Given the description of an element on the screen output the (x, y) to click on. 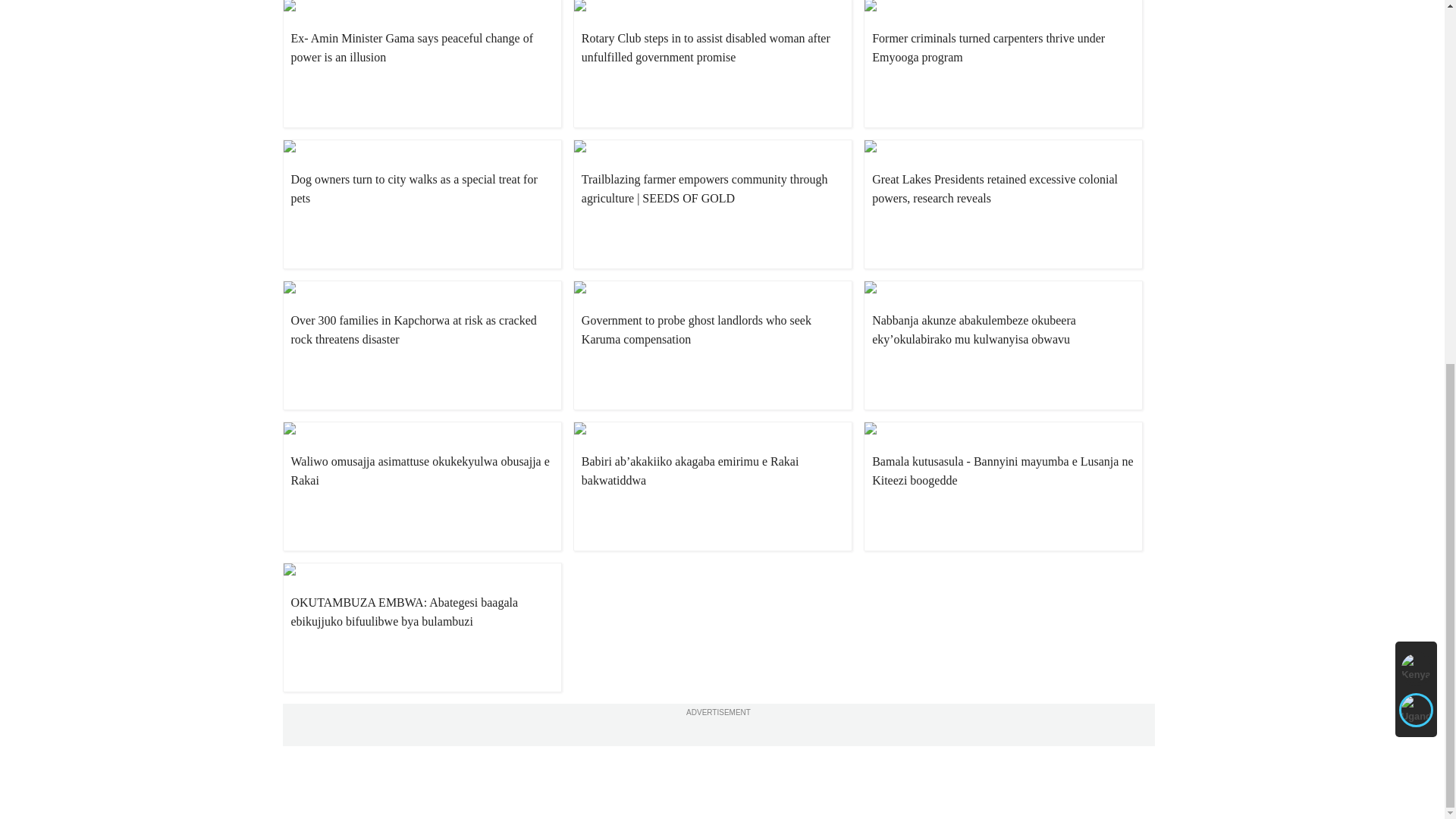
Dog owners turn to city walks as a special treat for pets (422, 188)
